Given the description of an element on the screen output the (x, y) to click on. 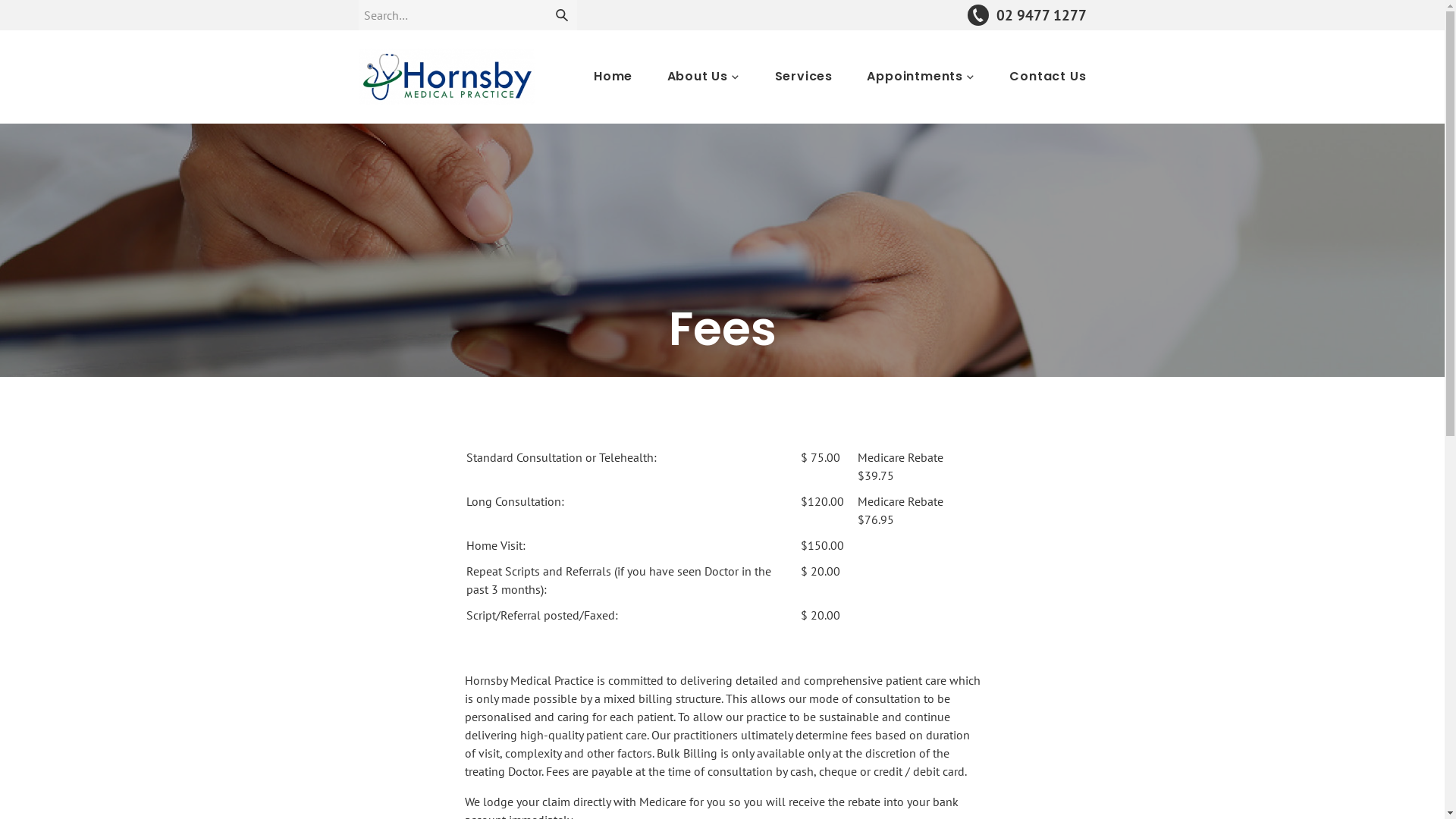
Contact Us Element type: text (1047, 76)
Search Element type: hover (561, 15)
02 9477 1277 Element type: text (1026, 14)
Services Element type: text (803, 76)
Appointments Element type: text (920, 76)
Home Element type: text (612, 76)
About Us Element type: text (703, 76)
